Given the description of an element on the screen output the (x, y) to click on. 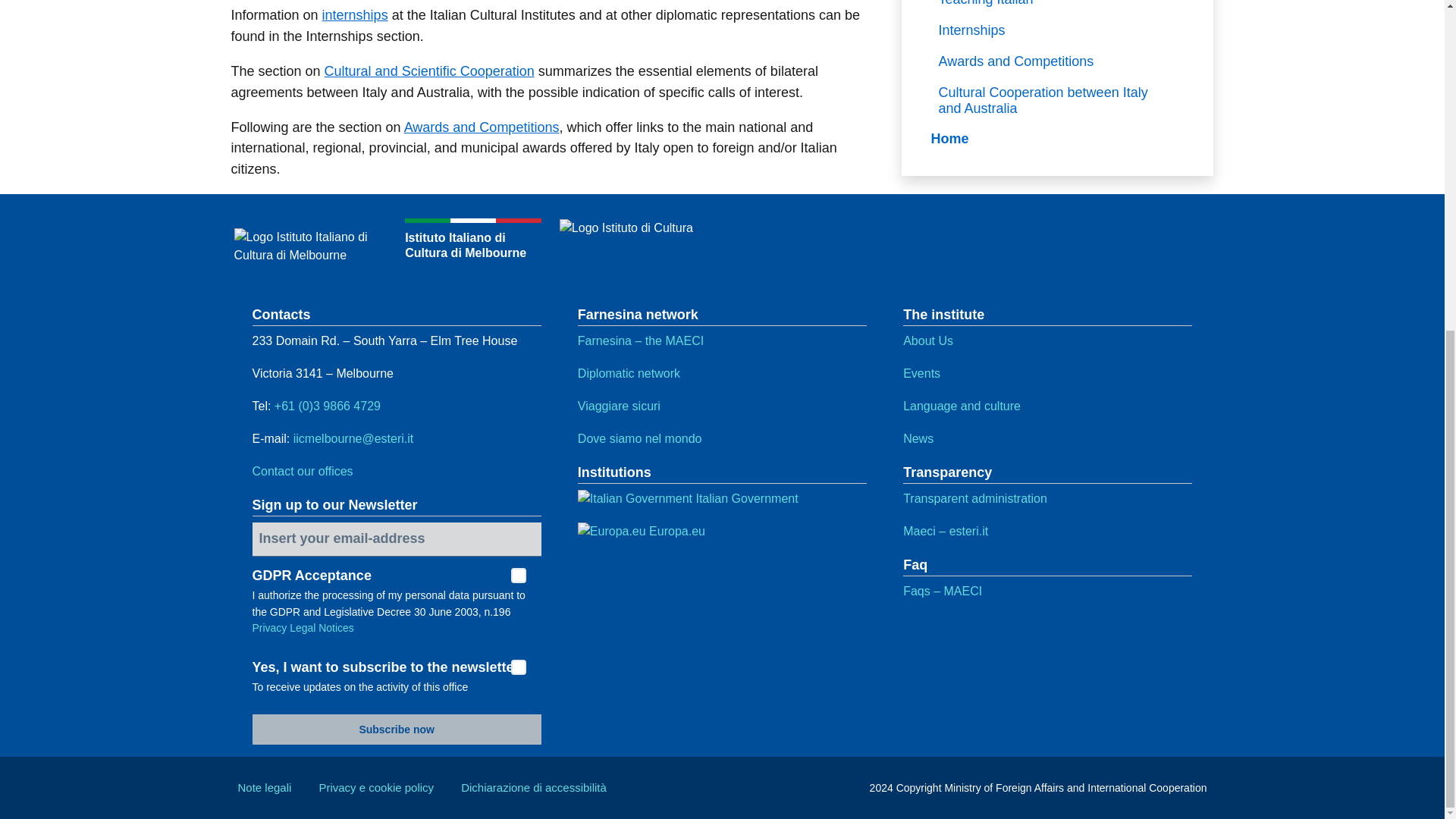
Cultural and Scientific Cooperation (429, 70)
Subscribe now (395, 729)
Awards and Competitions (481, 127)
internships (354, 14)
